Given the description of an element on the screen output the (x, y) to click on. 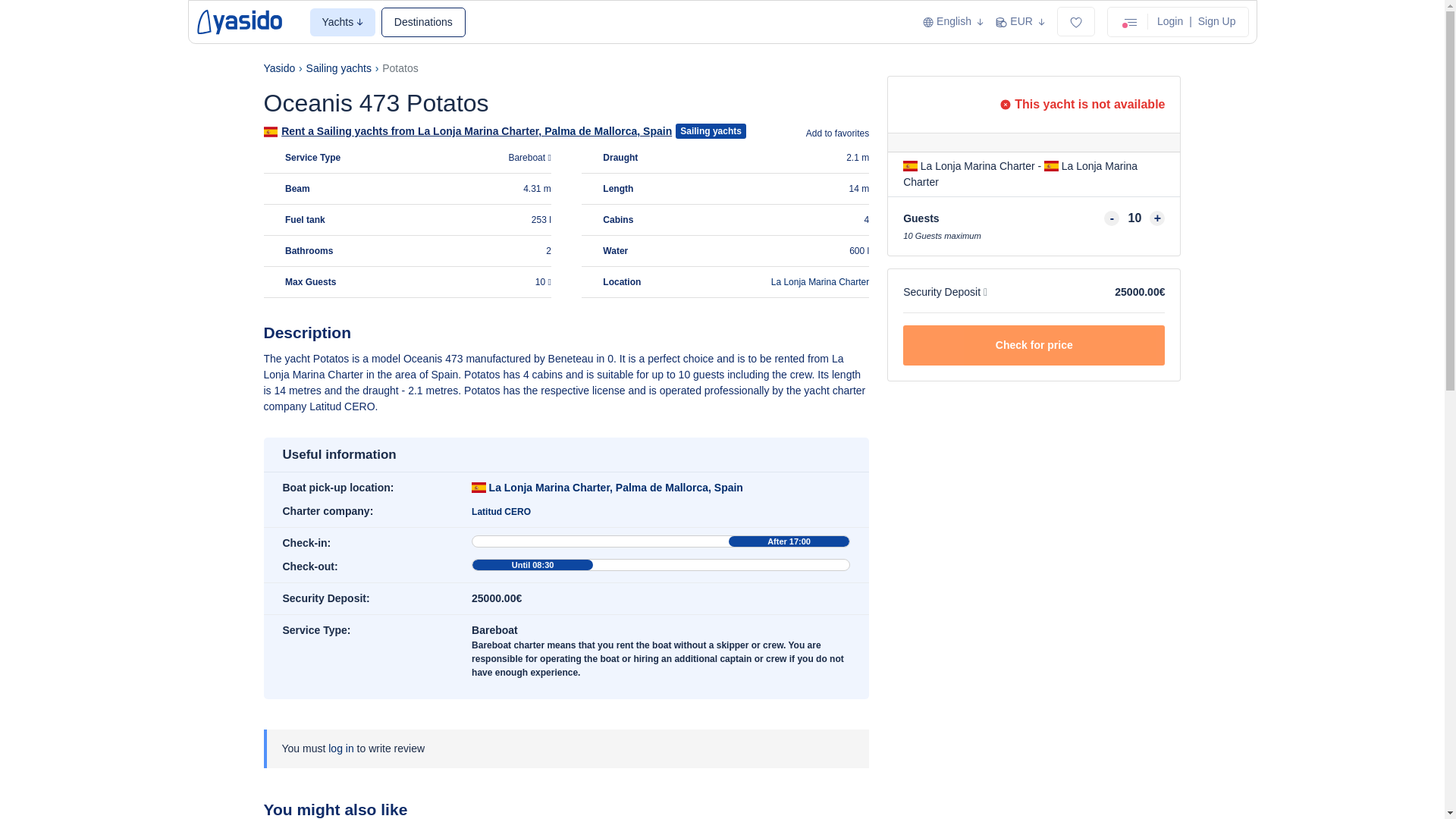
Destinations (423, 21)
Including the skipper and crew (543, 281)
Palma de Mallorca, Spain (607, 131)
EUR (1020, 21)
English (953, 21)
Yasido (279, 68)
Sailing yachts (338, 68)
